Given the description of an element on the screen output the (x, y) to click on. 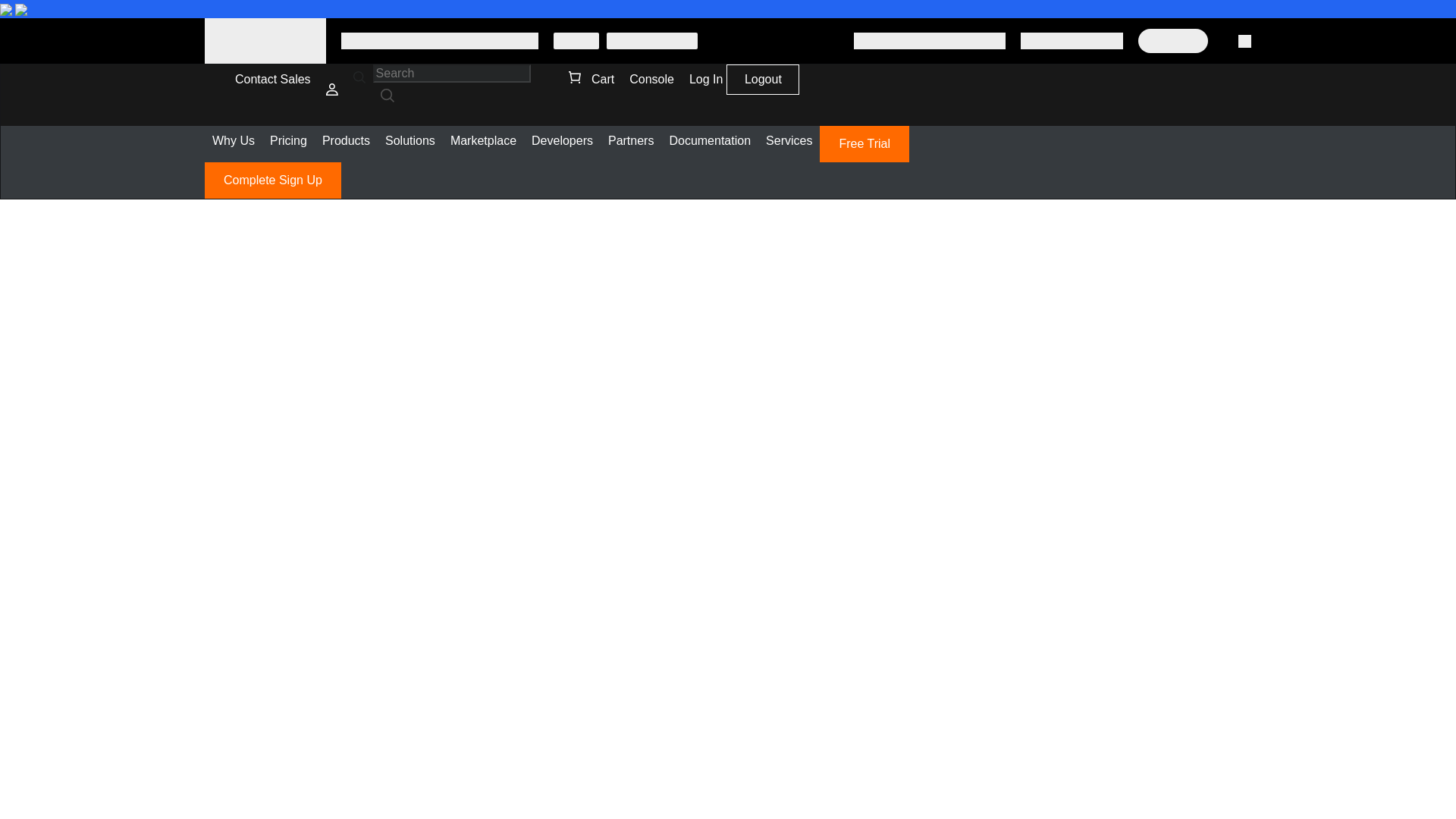
Partners (630, 141)
Services (788, 141)
Logout (762, 82)
Products (345, 141)
  Cart (591, 79)
Developers (561, 141)
Console (651, 79)
Log In (705, 79)
Contact Sales (272, 79)
Documentation (709, 141)
Marketplace (483, 141)
Free Trial (863, 144)
Pricing (288, 141)
Solutions (409, 141)
Why Us (233, 141)
